Given the description of an element on the screen output the (x, y) to click on. 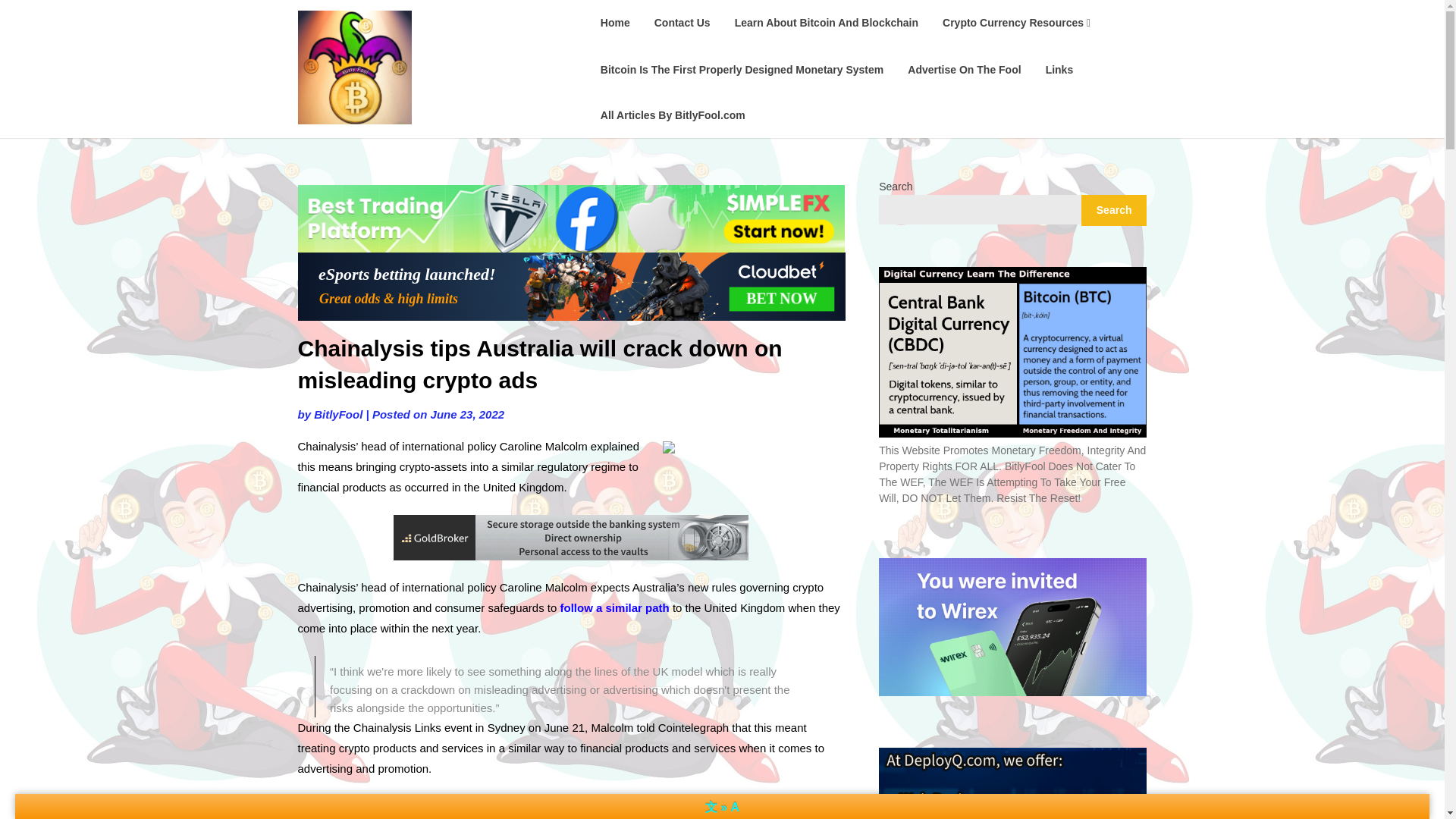
Learn About Bitcoin And Blockchain (826, 22)
BitlyFool.com (474, 21)
Home (615, 22)
Advertise On The Fool (963, 68)
Links (1059, 68)
Bitcoin Is The First Properly Designed Monetary System (741, 68)
All Articles By BitlyFool.com (672, 115)
Contact Us (682, 22)
follow a similar path (614, 607)
Crypto Currency Resources (1016, 22)
June 23, 2022 (467, 413)
BitlyFool (338, 413)
